Given the description of an element on the screen output the (x, y) to click on. 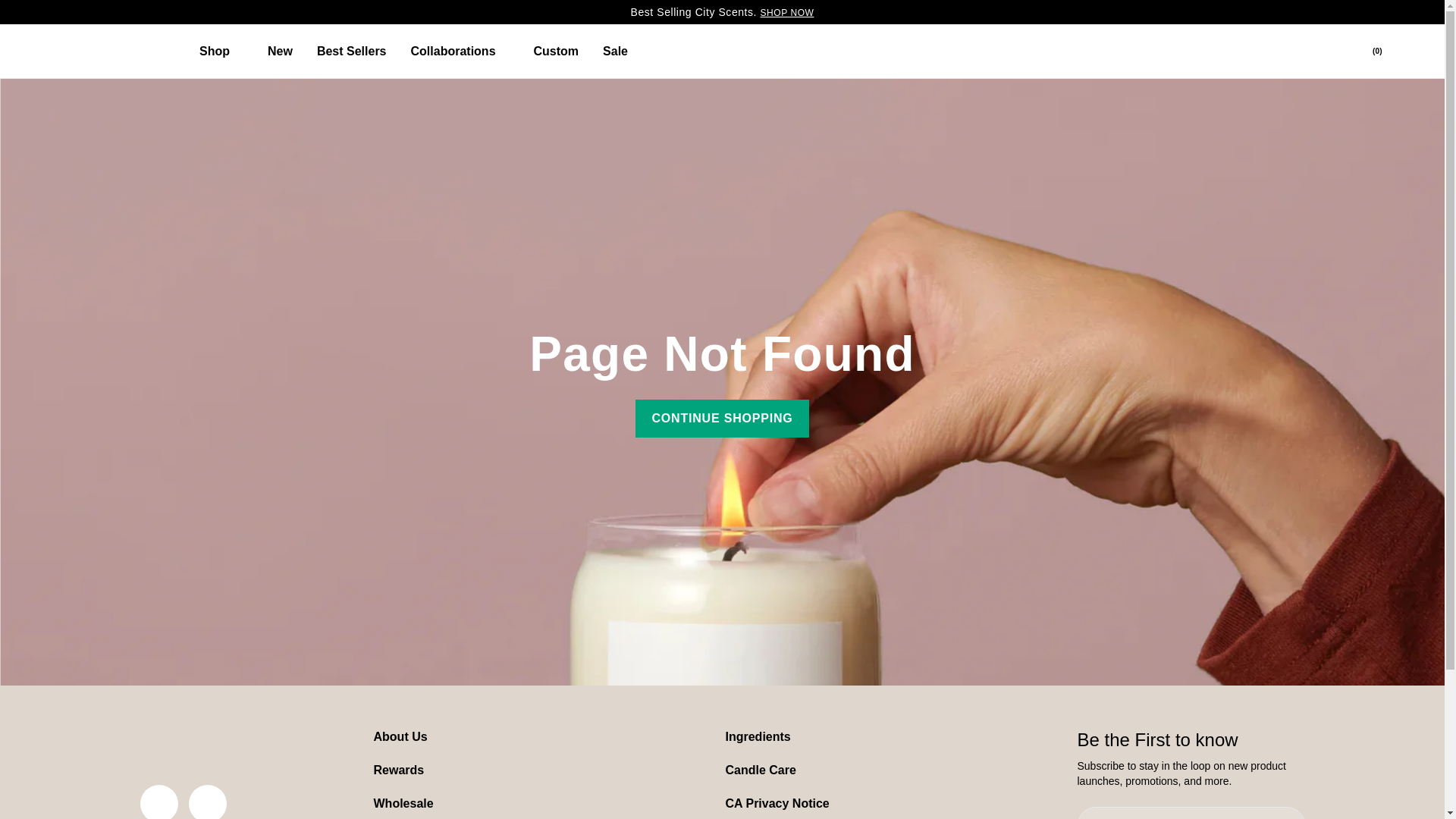
New (280, 50)
Collaborations (459, 50)
Shop (221, 50)
Candle Care (759, 769)
Ingredients (757, 736)
Rewards (397, 769)
Custom (556, 50)
CONTINUE SHOPPING (721, 418)
CA Privacy Notice (776, 802)
Best Sellers (351, 50)
Wholesale (402, 802)
SHOP NOW (786, 12)
About Us (399, 736)
Sale (615, 50)
